Given the description of an element on the screen output the (x, y) to click on. 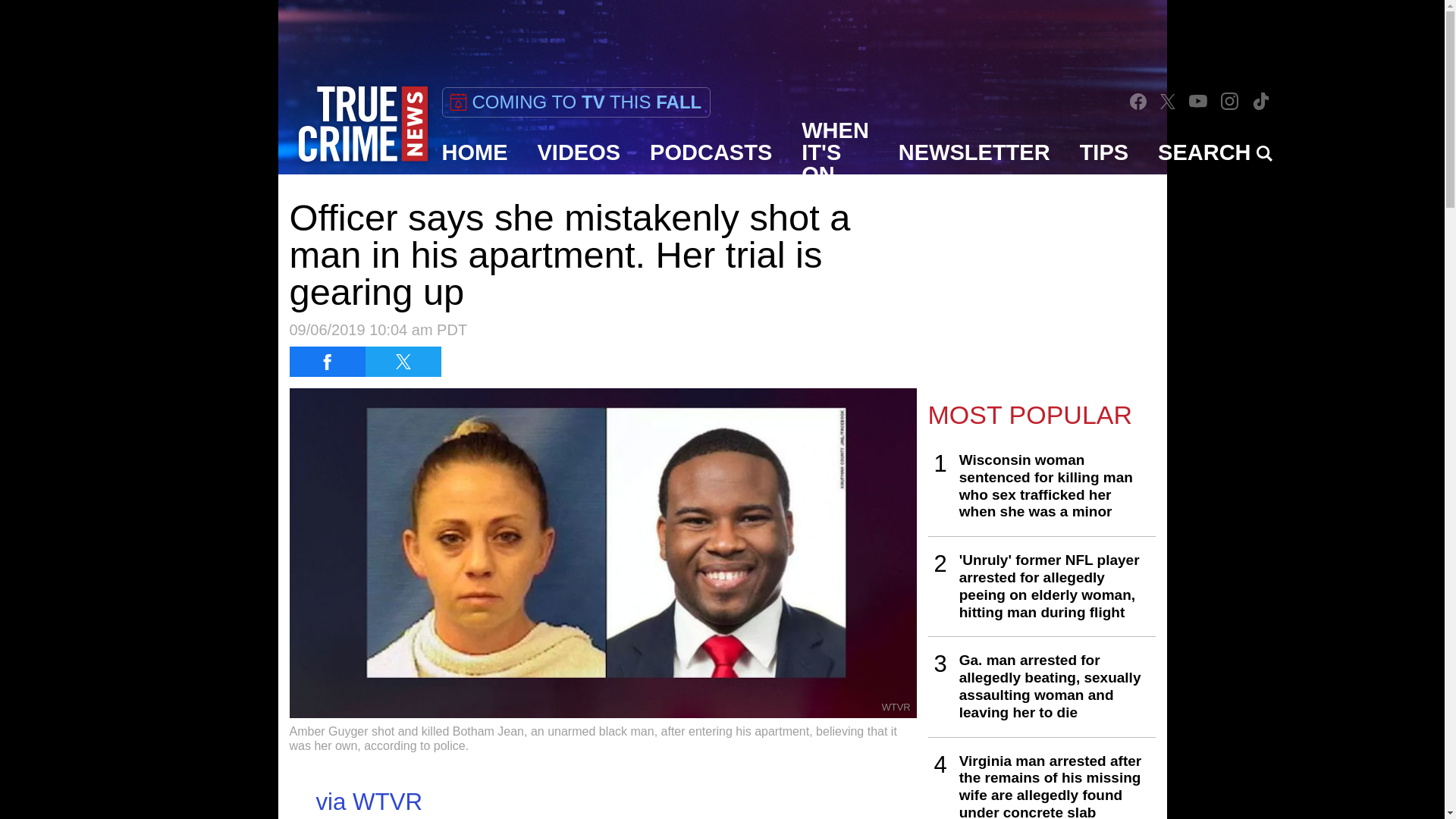
3rd party ad content (1042, 282)
3rd party ad content (721, 33)
Instagram (1230, 100)
Twitter (1167, 100)
COMING TO TV THIS FALL (575, 101)
TIPS (1103, 152)
VIDEOS (579, 152)
YouTube (1198, 100)
Facebook (1138, 100)
HOME (475, 152)
